Given the description of an element on the screen output the (x, y) to click on. 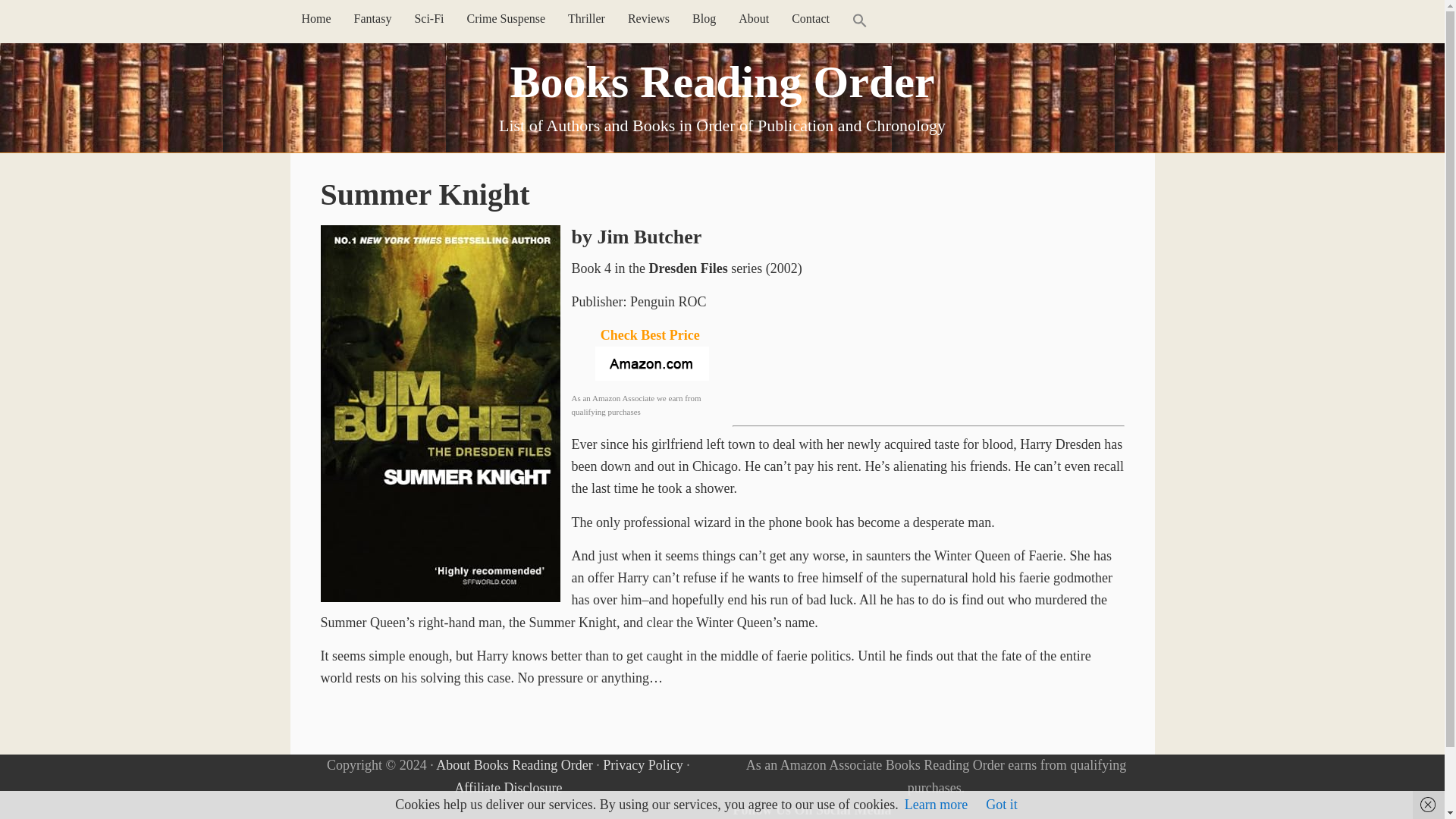
Books Reading Order (721, 81)
About (753, 18)
Privacy Policy (642, 765)
Contact (810, 18)
Learn more (936, 804)
Got it (1001, 804)
Reviews (648, 18)
Blog (703, 18)
Crime Suspense (506, 18)
Thriller (585, 18)
Fantasy (372, 18)
Home (315, 18)
Jim Butcher (648, 237)
Affiliate Disclosure (508, 786)
Sci-Fi (428, 18)
